Given the description of an element on the screen output the (x, y) to click on. 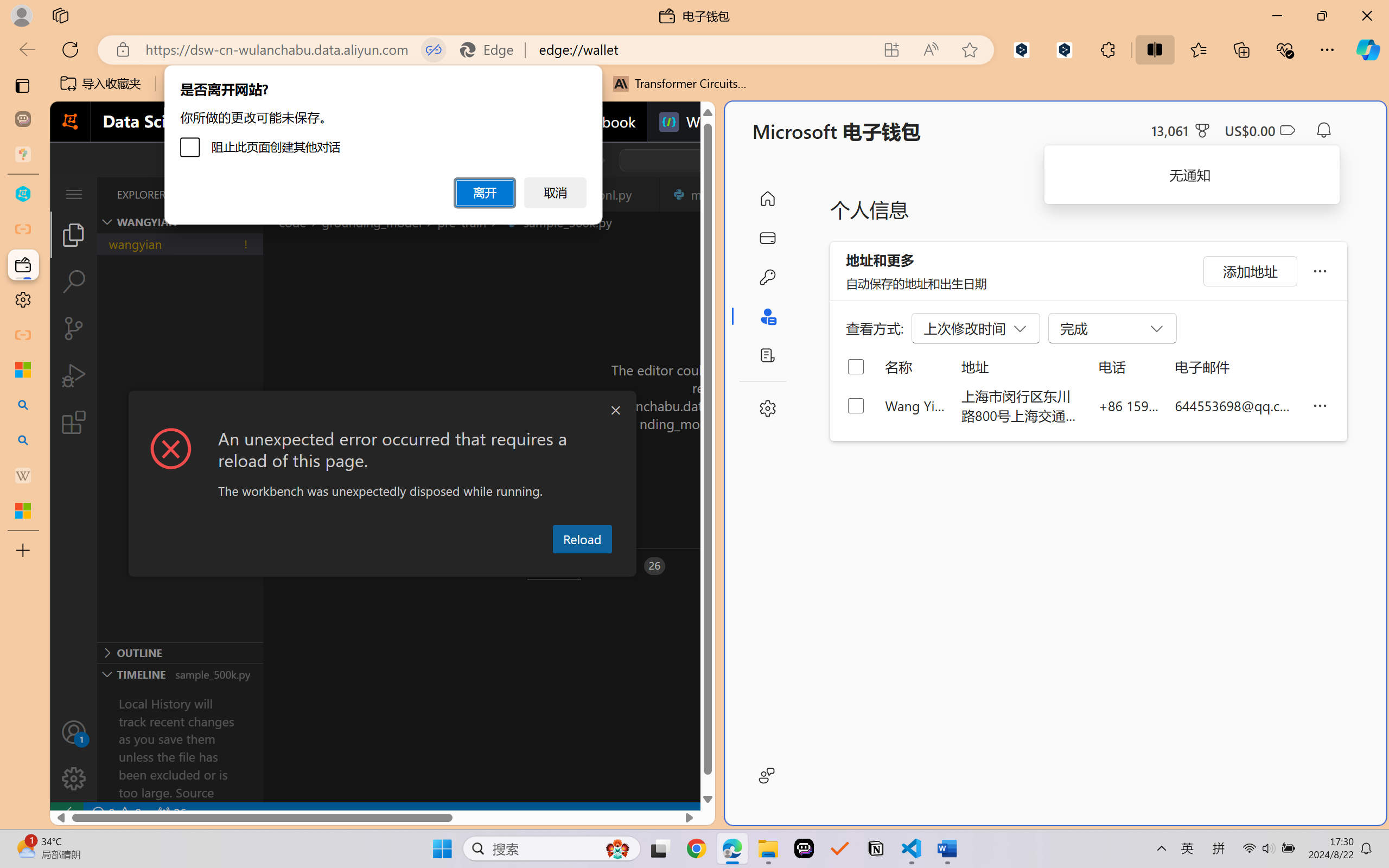
Source Control (Ctrl+Shift+G) (73, 328)
Wang Yian (914, 405)
Search (Ctrl+Shift+F) (73, 281)
Microsoft Cashback - US$0.00 (1259, 129)
Ports - 26 forwarded ports (632, 565)
